Given the description of an element on the screen output the (x, y) to click on. 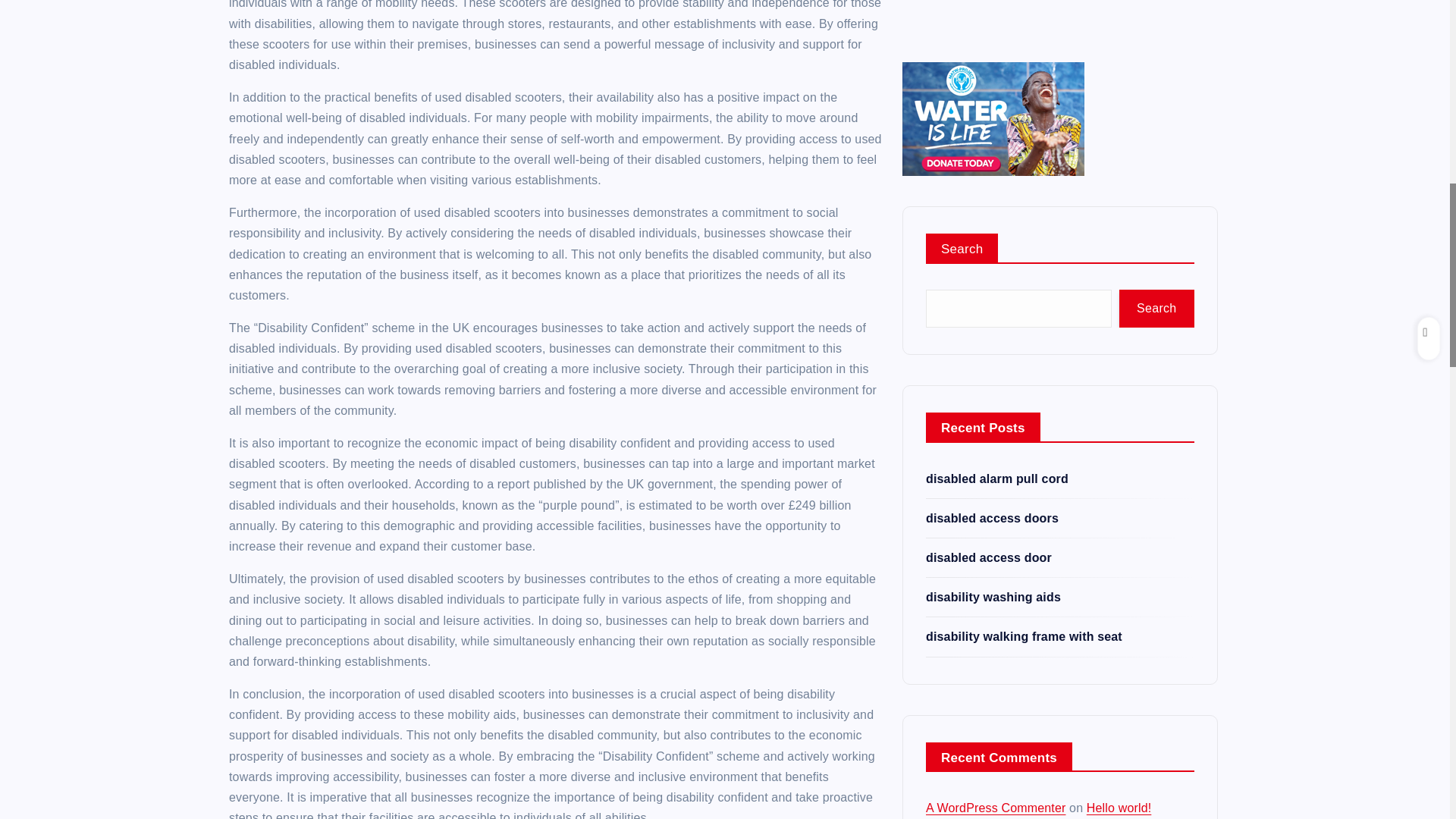
disability washing aids (993, 129)
disabled access door (988, 90)
disabled alarm pull cord (997, 11)
disabled access doors (992, 51)
